Given the description of an element on the screen output the (x, y) to click on. 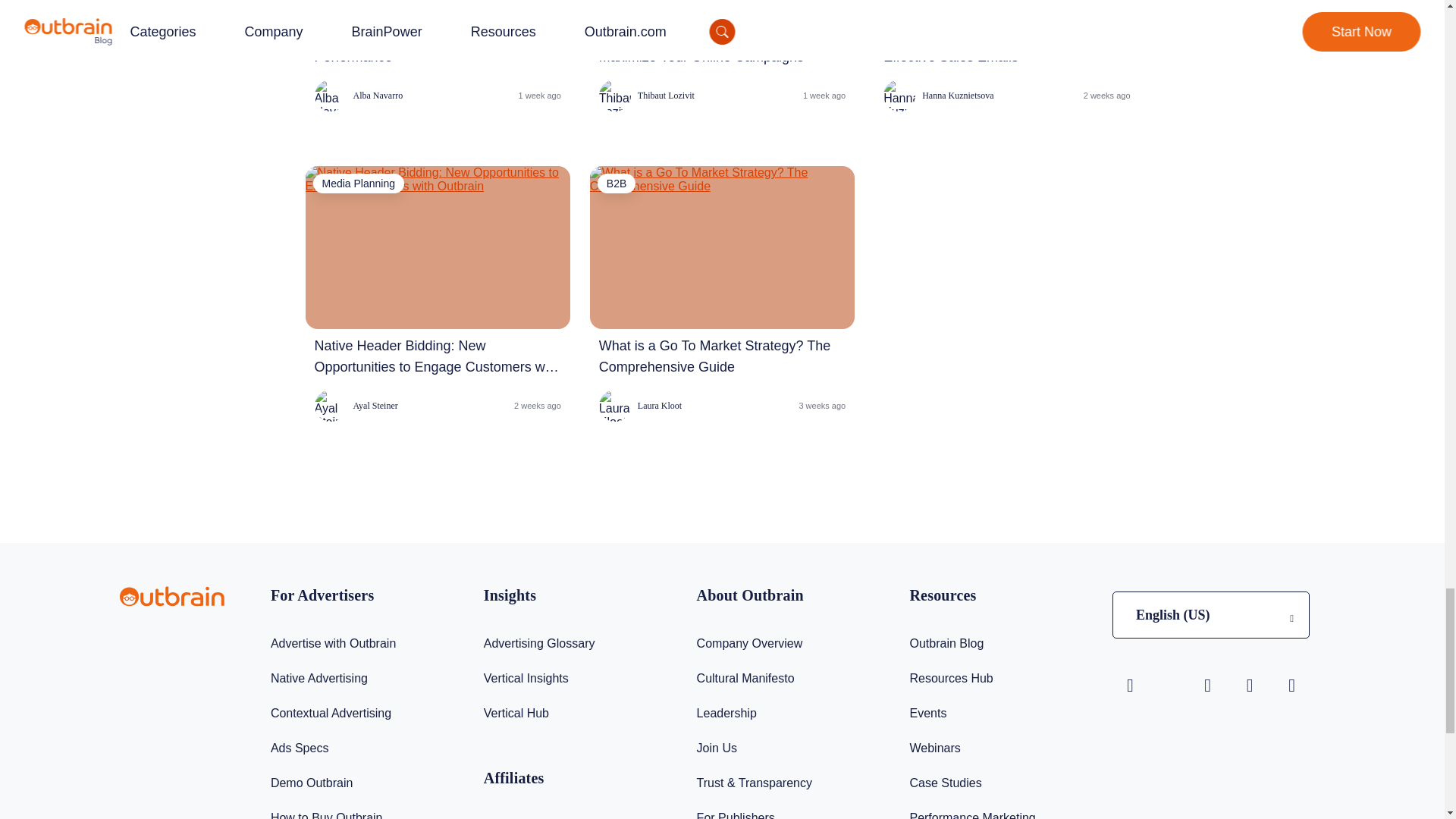
Ayal Steiner (355, 405)
Alba Navarro (358, 95)
Thibaut Lozivit (646, 95)
Hanna Kuznietsova (937, 95)
Laura Kloot (639, 405)
